Given the description of an element on the screen output the (x, y) to click on. 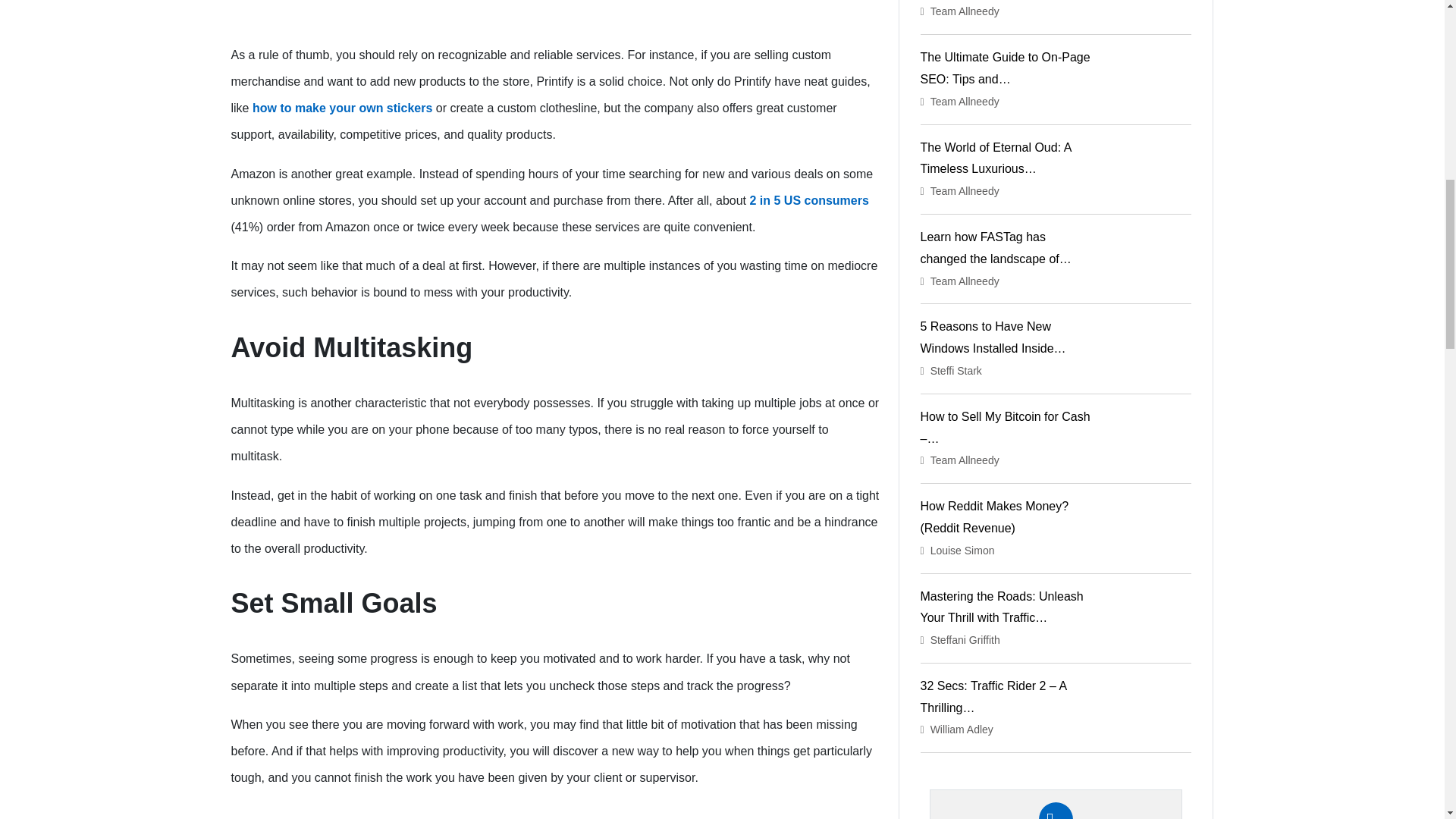
2 in 5 US consumers (808, 200)
Team Allneedy (964, 101)
how to make your own stickers (341, 107)
Team Allneedy (964, 10)
Team Allneedy (964, 191)
Team Allneedy (964, 281)
